Given the description of an element on the screen output the (x, y) to click on. 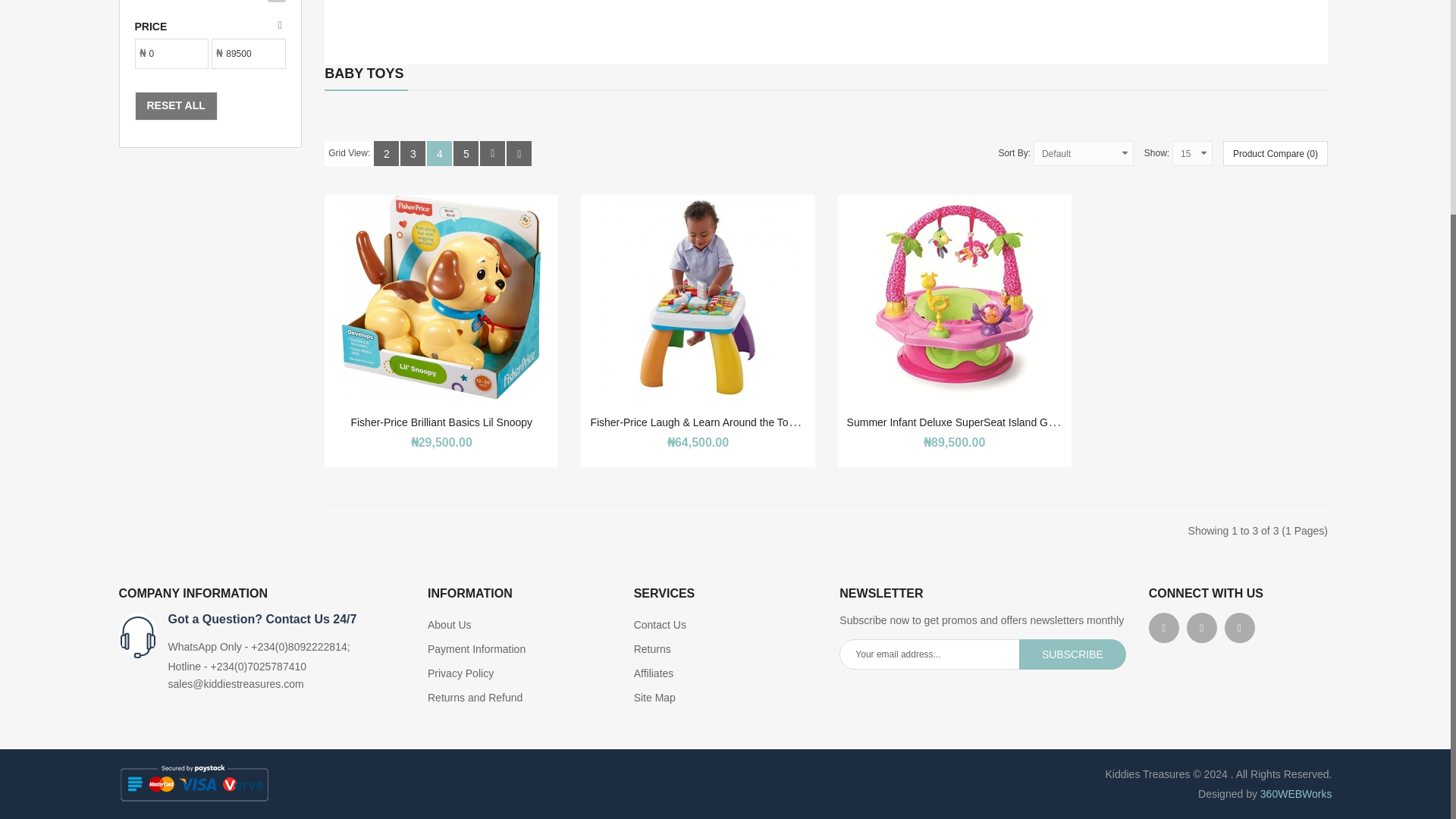
89500 (242, 53)
Fisher-Price  Newborn to Toddler Portable Rocker (394, 9)
0 (165, 53)
